Given the description of an element on the screen output the (x, y) to click on. 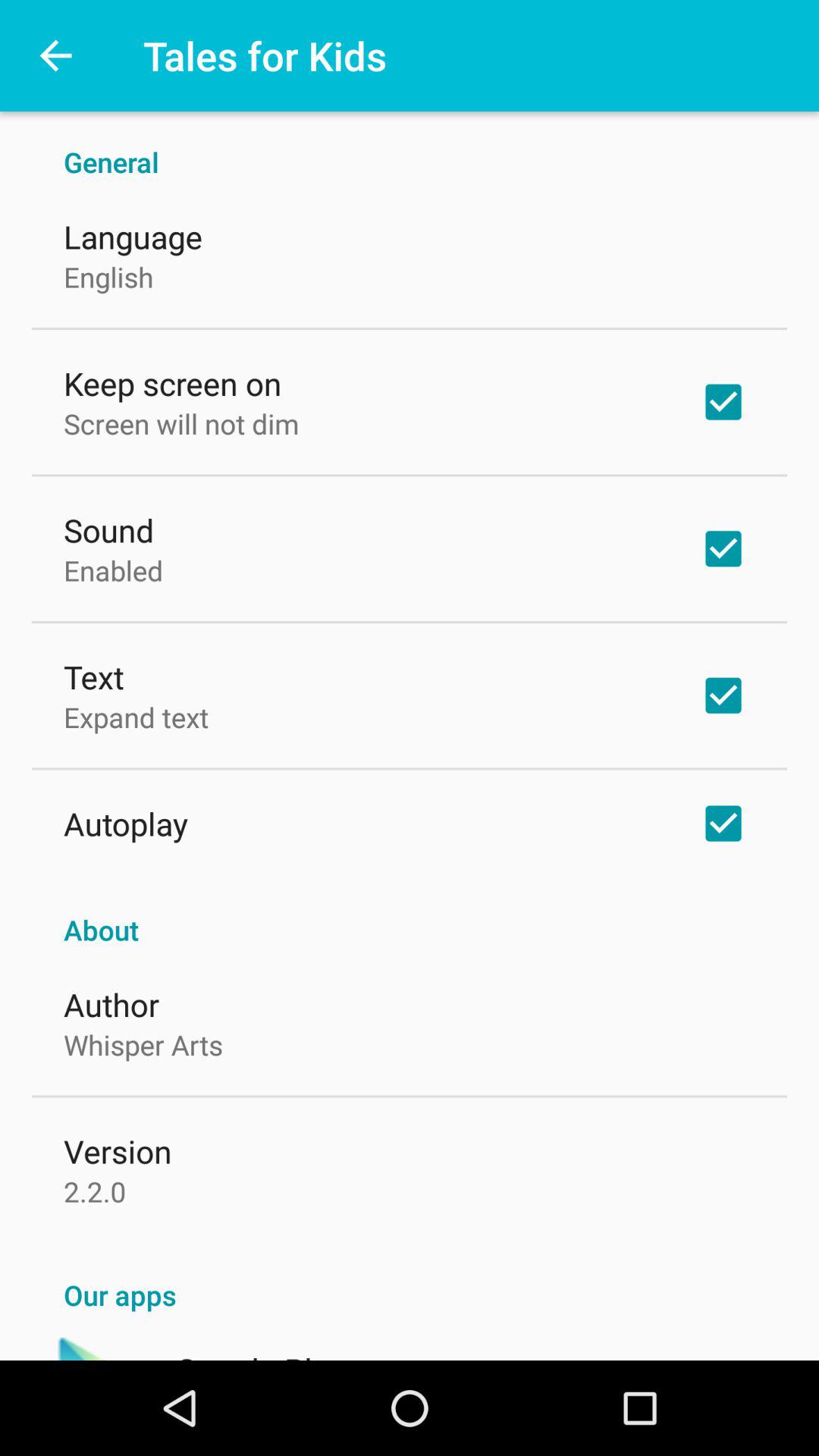
launch version icon (117, 1150)
